Given the description of an element on the screen output the (x, y) to click on. 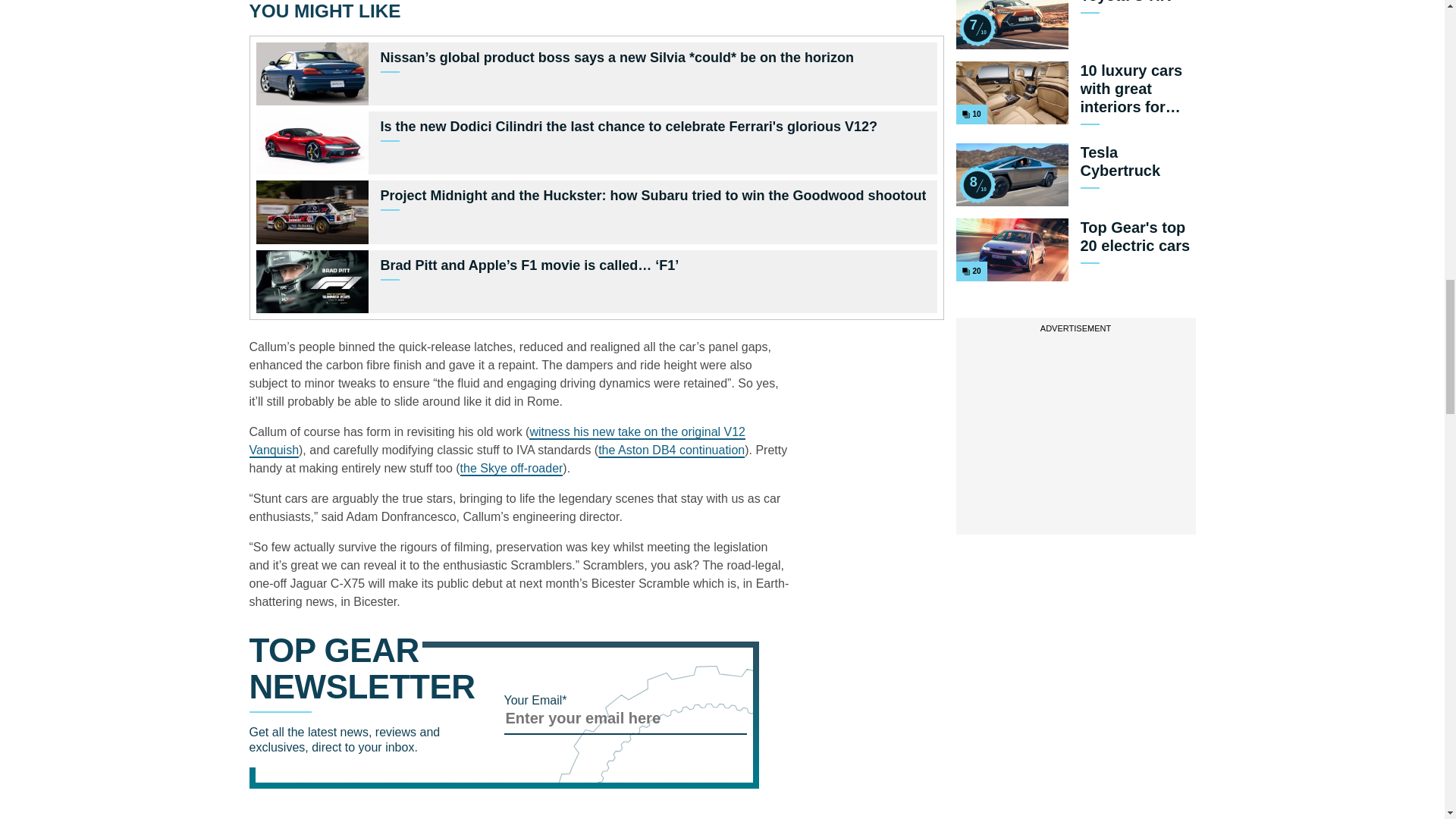
Top Gear's Aston Martin Vanquish 25 by Callum review (496, 441)
